Given the description of an element on the screen output the (x, y) to click on. 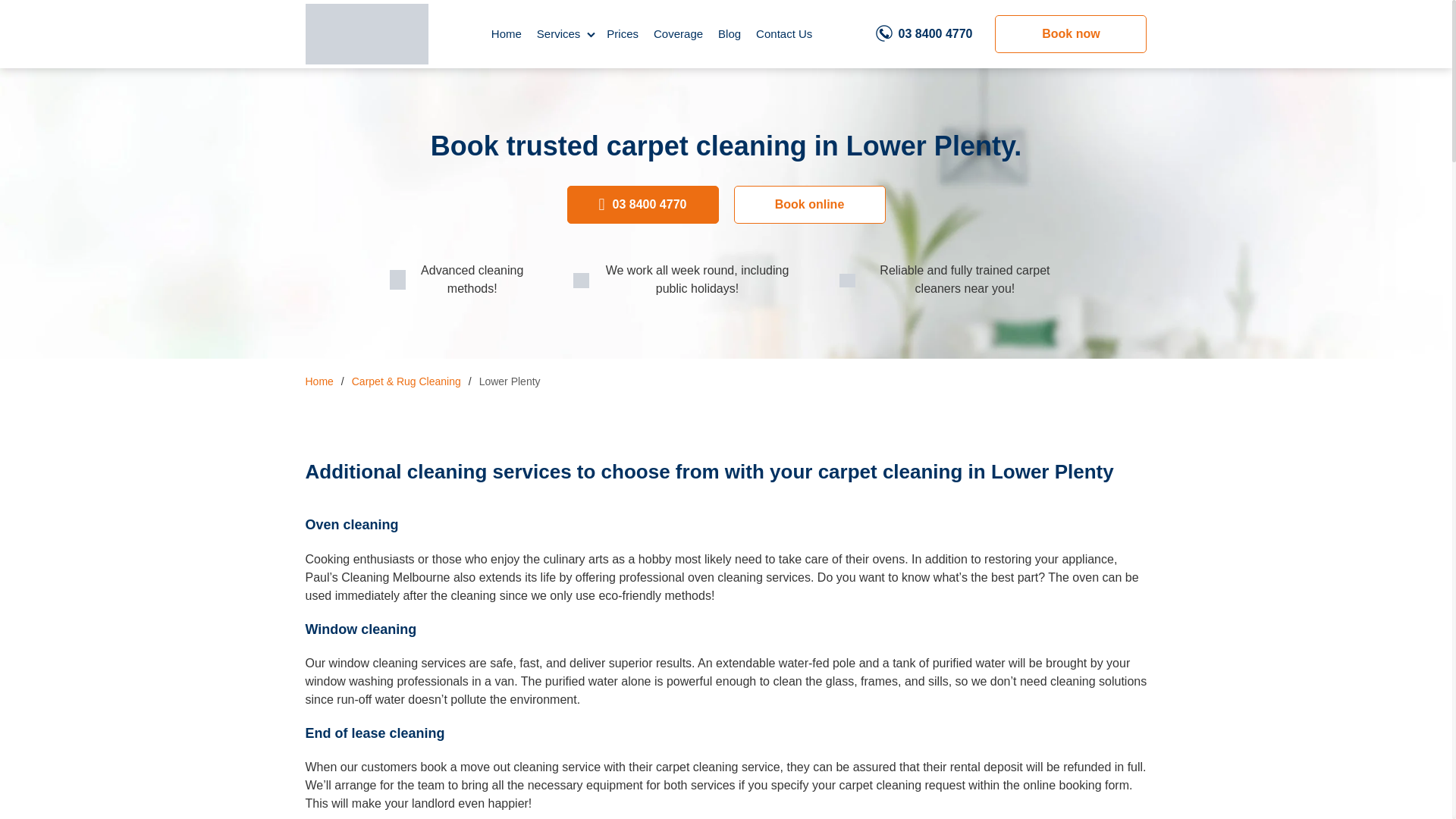
03 8400 4770 (643, 204)
Services (564, 34)
Cleaning Blog (366, 34)
Home (318, 381)
Coverage (678, 34)
Call Cleaning Blog on 03 8400 4770 (924, 34)
03 8400 4770 (924, 34)
Book now (1070, 34)
Contact Us (783, 34)
Book online (809, 204)
